Given the description of an element on the screen output the (x, y) to click on. 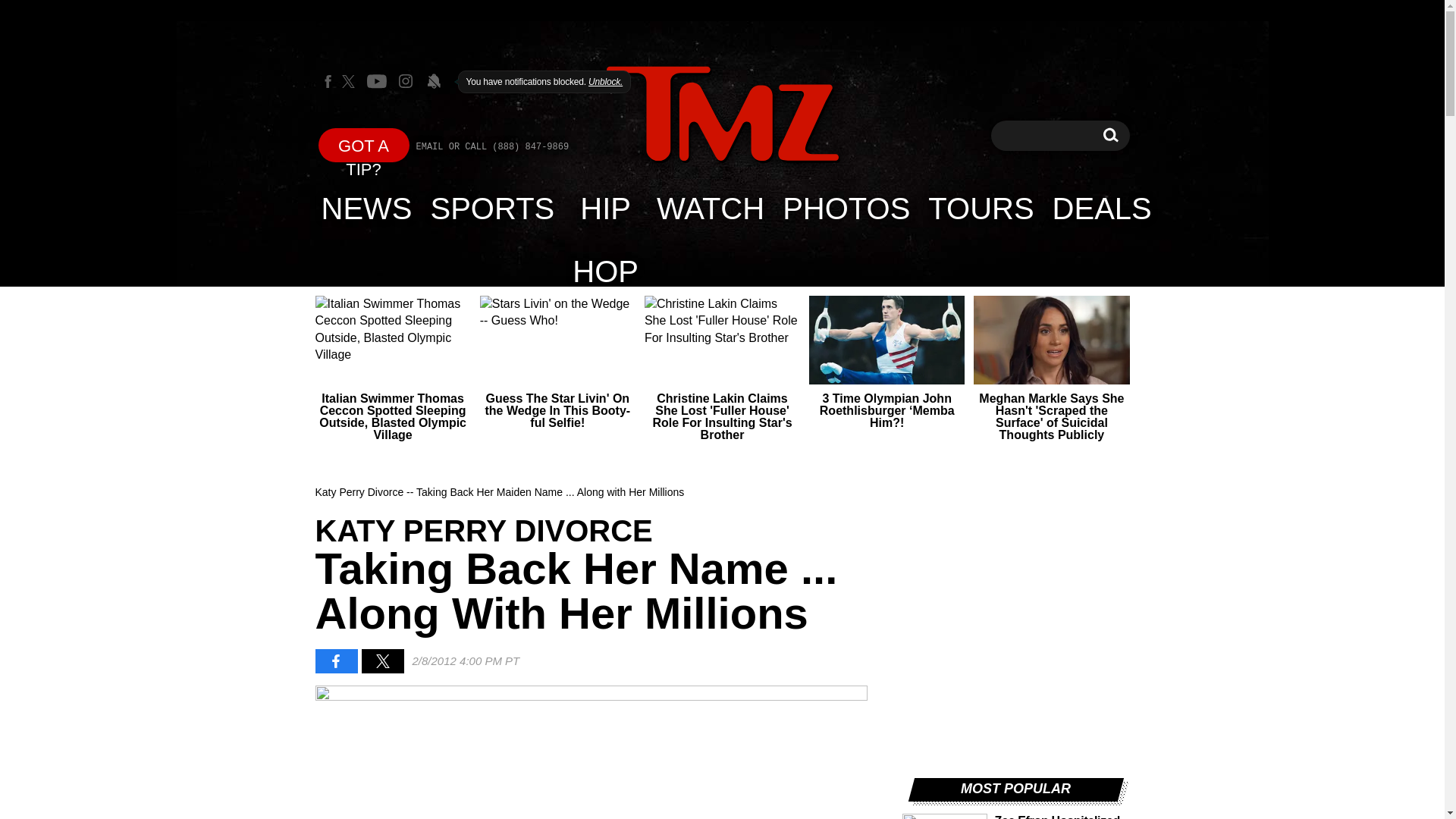
WATCH (710, 207)
DEALS (1101, 207)
HIP HOP (605, 207)
NEWS (367, 207)
PHOTOS (845, 207)
TOURS (1110, 135)
TMZ (980, 207)
Skip to main content (722, 113)
Search (493, 207)
GOT A TIP? (1110, 134)
TMZ (363, 144)
